Given the description of an element on the screen output the (x, y) to click on. 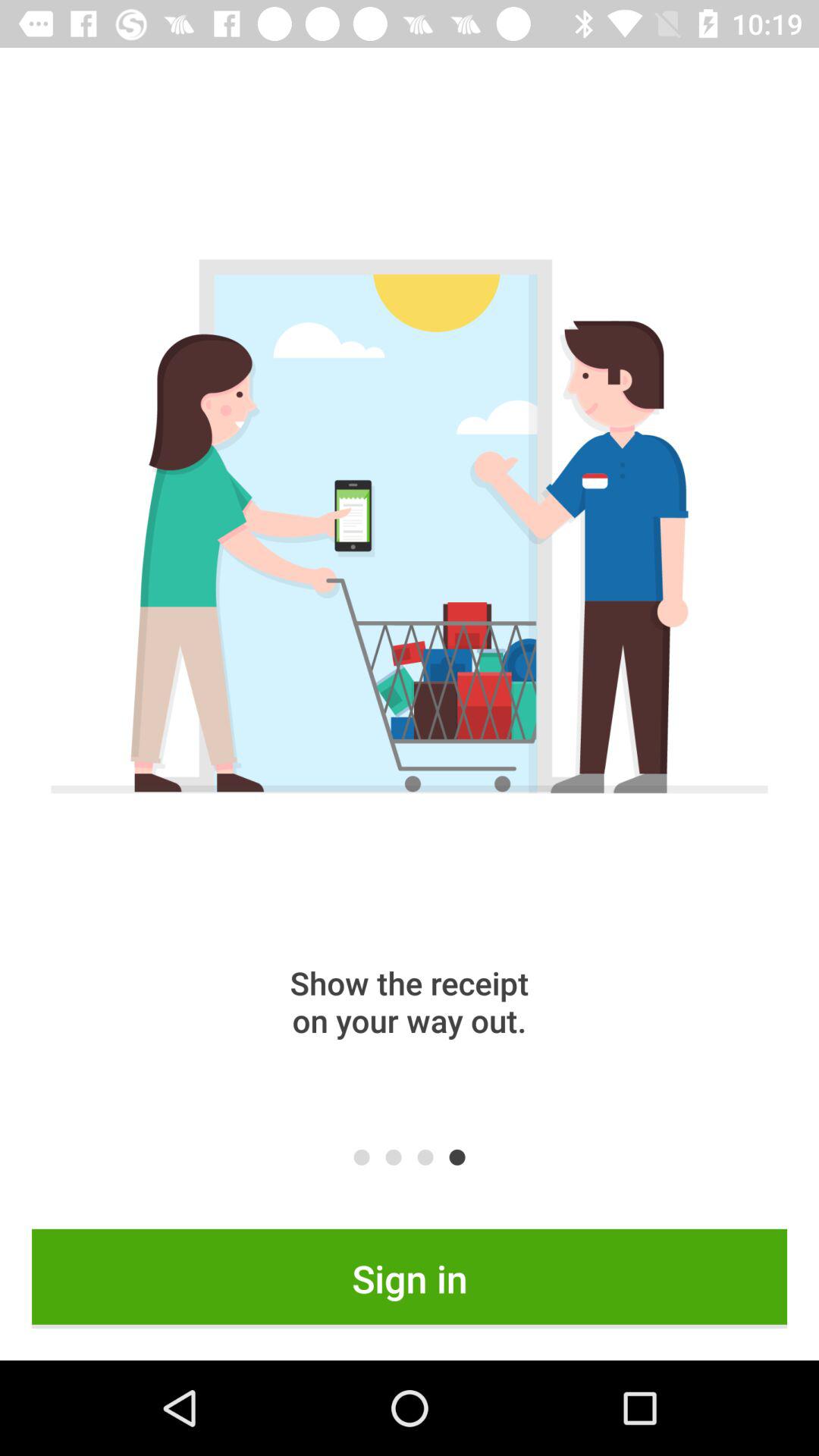
swipe to sign in (409, 1278)
